Given the description of an element on the screen output the (x, y) to click on. 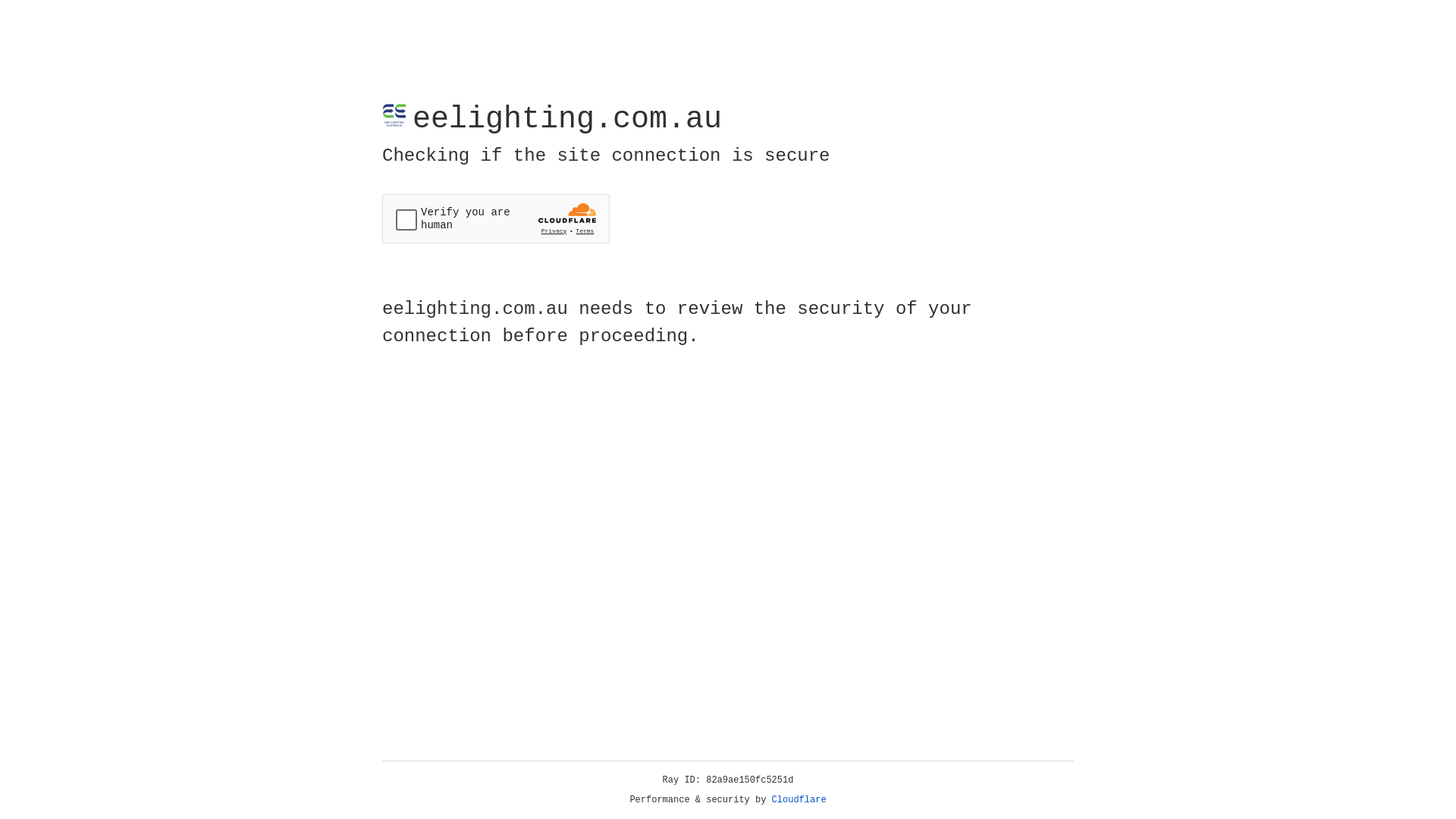
Cloudflare Element type: text (798, 799)
Widget containing a Cloudflare security challenge Element type: hover (495, 218)
